Given the description of an element on the screen output the (x, y) to click on. 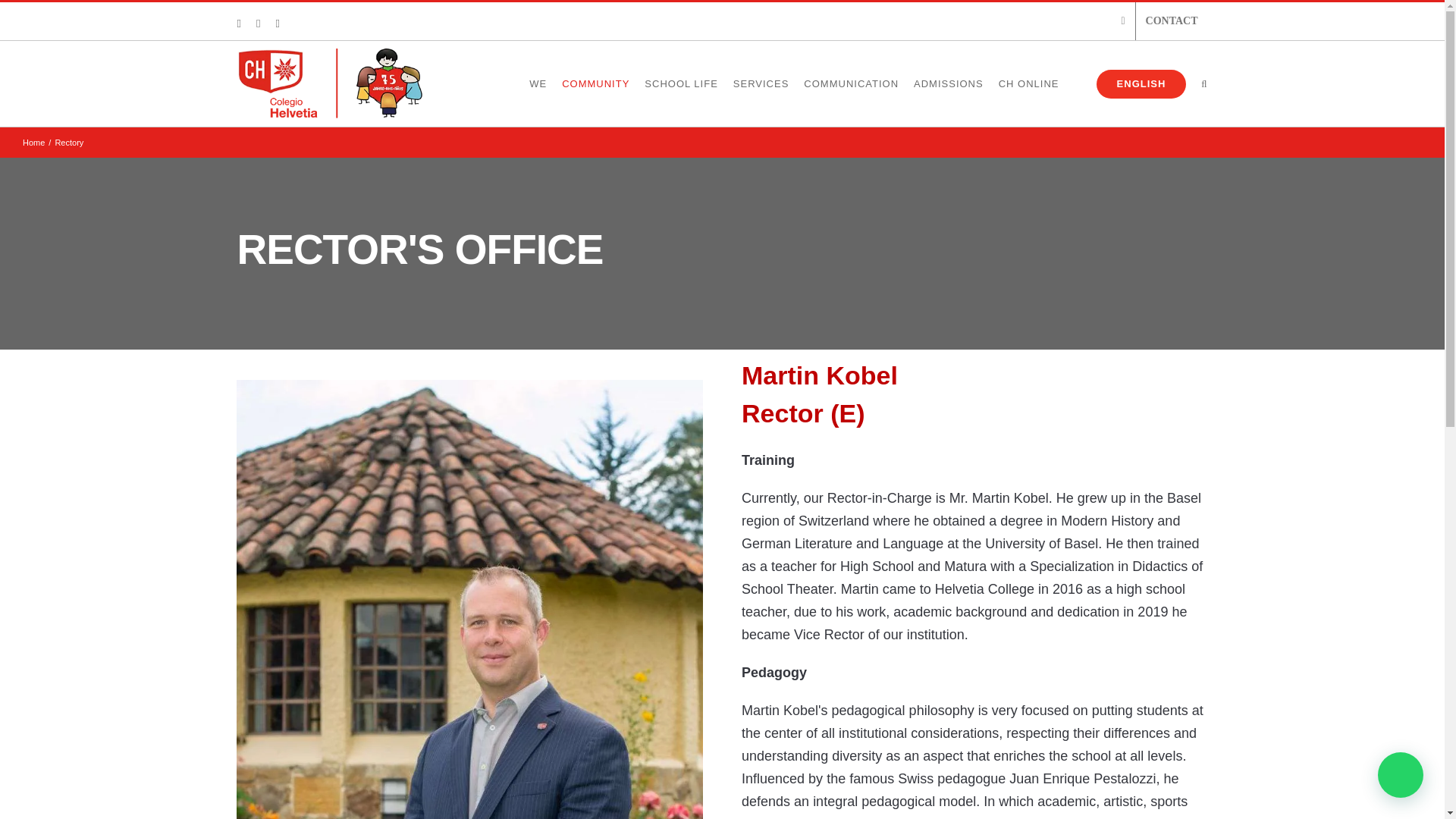
English (1130, 83)
CONTACT (1171, 21)
